Given the description of an element on the screen output the (x, y) to click on. 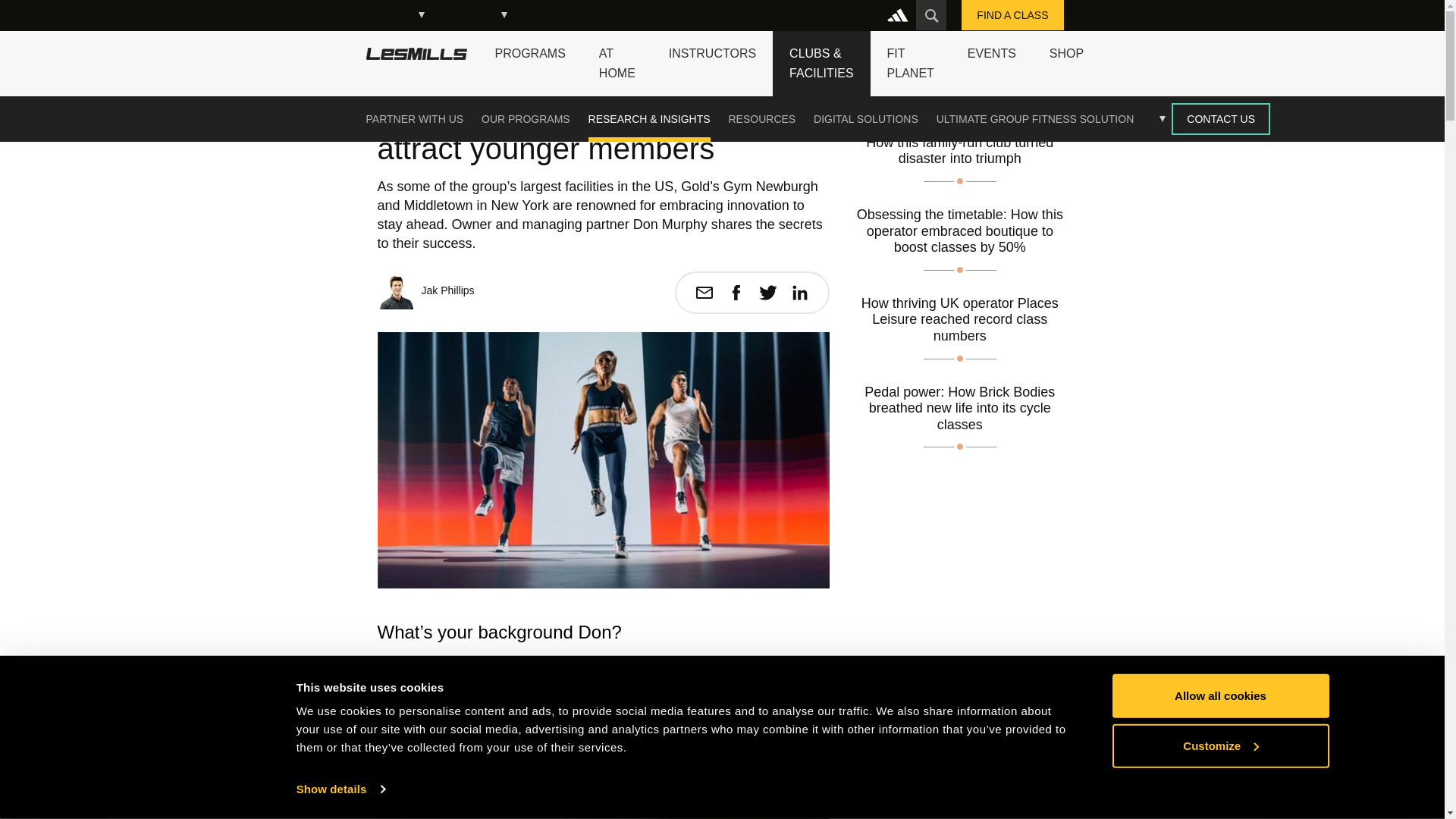
Show details (340, 789)
